Given the description of an element on the screen output the (x, y) to click on. 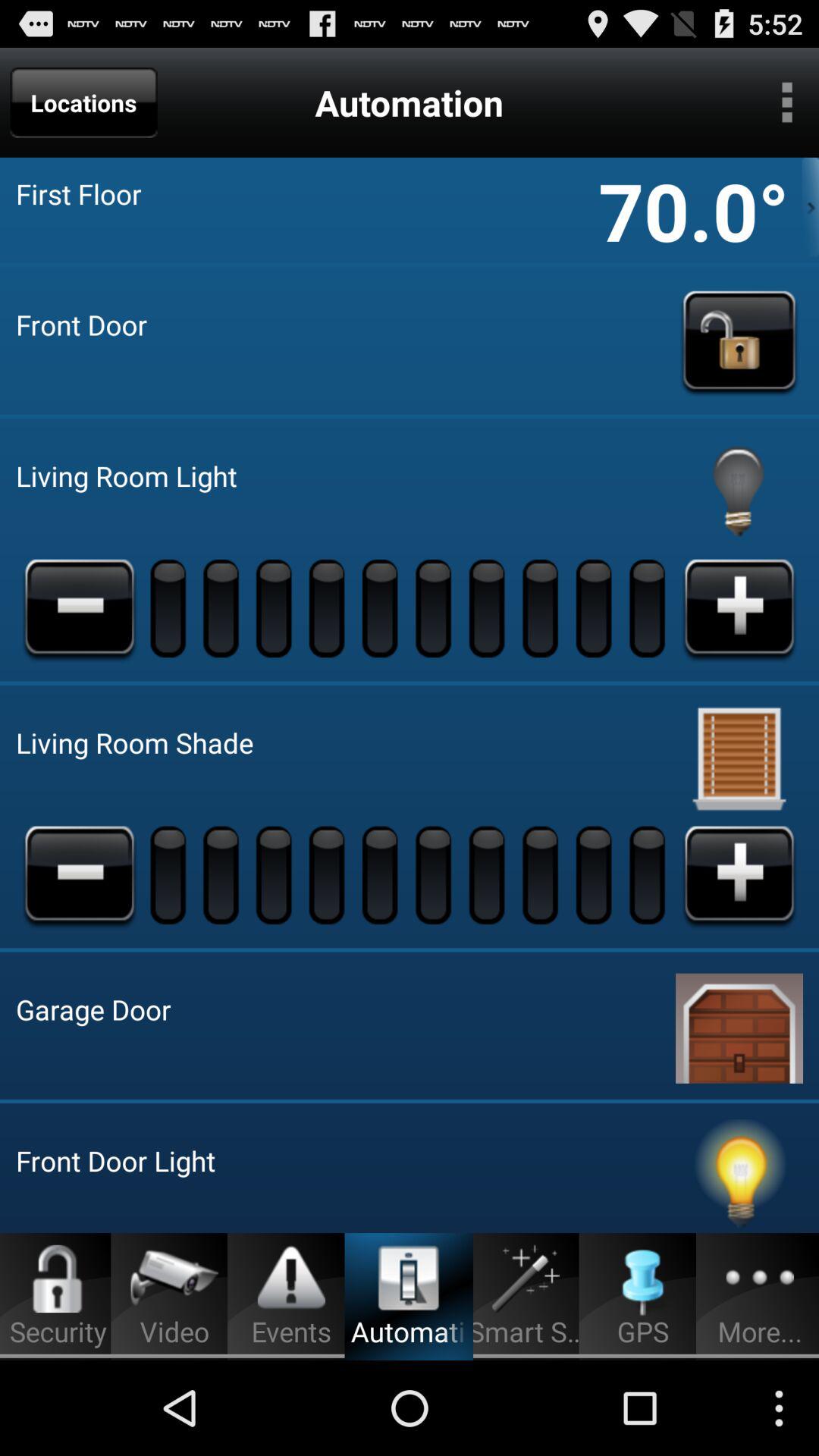
press light bulb (739, 491)
